Given the description of an element on the screen output the (x, y) to click on. 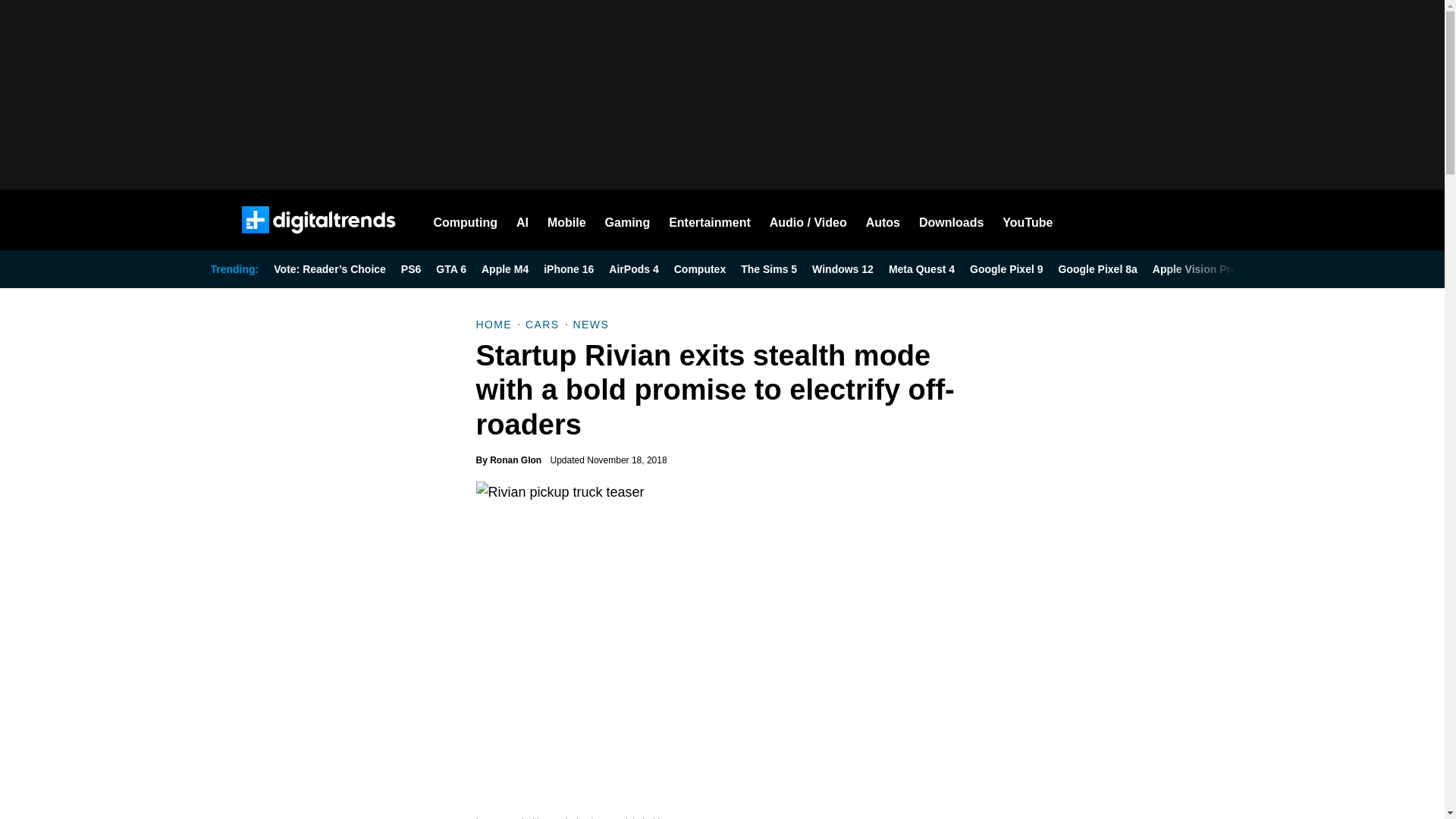
Computing (465, 219)
Downloads (951, 219)
Entertainment (709, 219)
